Given the description of an element on the screen output the (x, y) to click on. 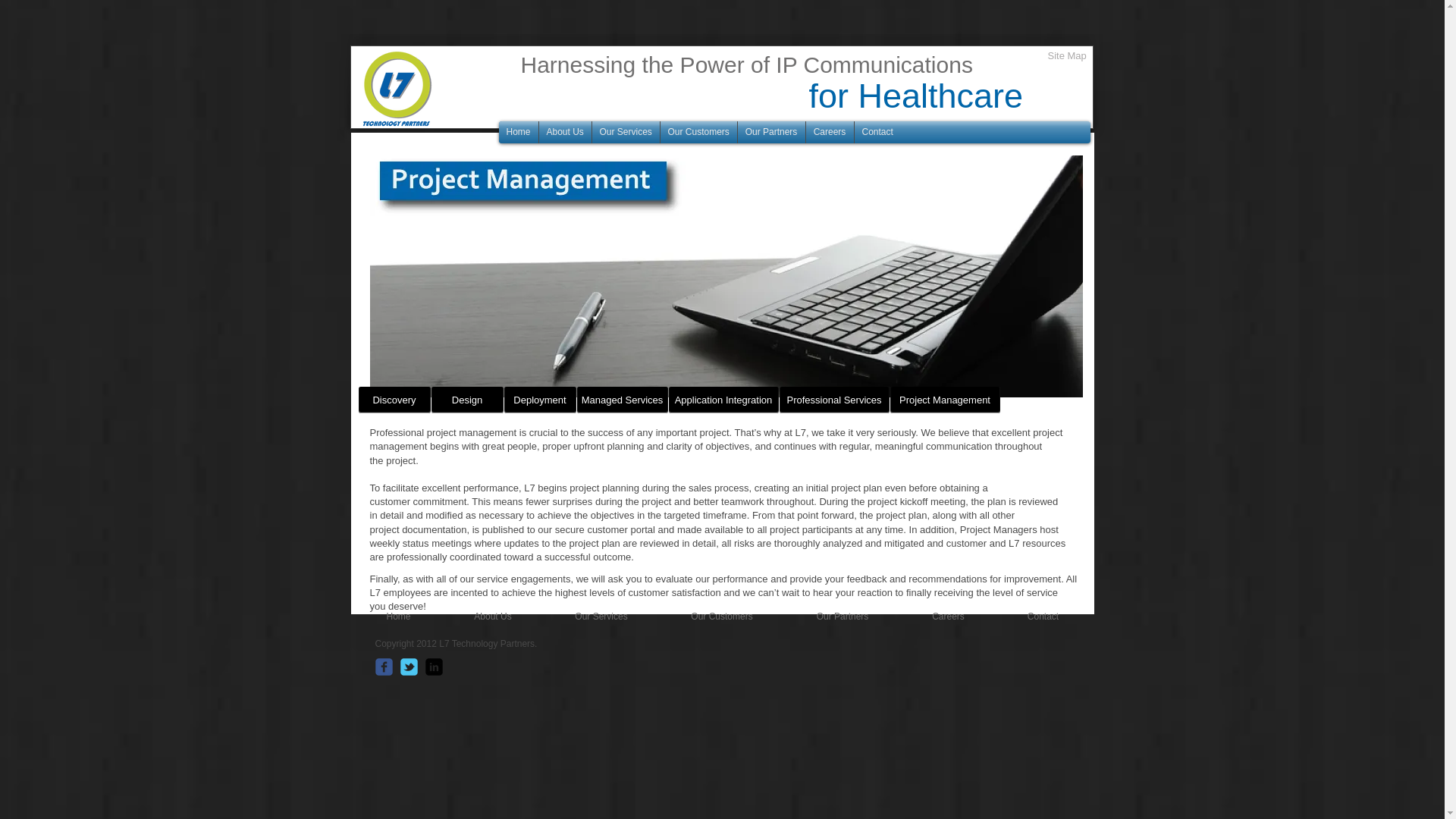
Our Customers (721, 614)
Site Map (1067, 56)
Our Partners (770, 132)
Careers (829, 132)
Project Management (944, 399)
Our Customers (697, 132)
Discovery (393, 399)
Careers (948, 614)
Contact (1042, 614)
Our Partners (841, 614)
